Given the description of an element on the screen output the (x, y) to click on. 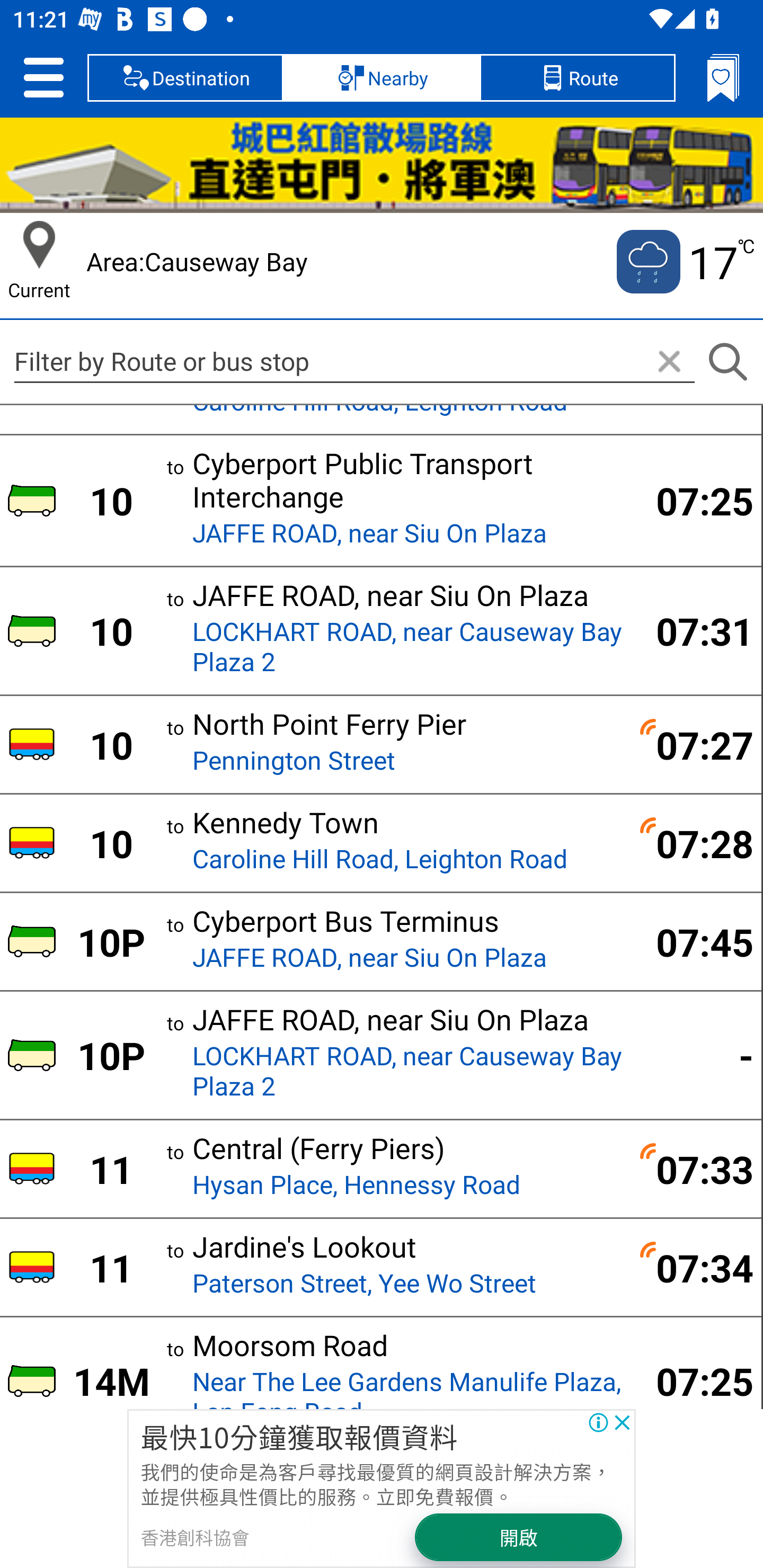
Destination (185, 77)
Nearby, selected (381, 77)
Route (577, 77)
Bookmarks (723, 77)
Setting (43, 77)
HKC (381, 165)
Current Location (38, 244)
Current temputure is  17  no 17 ℃ (684, 261)
Filter by Route or bus stop (354, 361)
Search (727, 362)
Clear (669, 361)
07:25 (693, 500)
07:31 (693, 630)
07:27 (693, 743)
07:28 (693, 842)
07:45 (693, 941)
- (693, 1054)
07:33 (693, 1168)
07:34 (693, 1267)
07:25 (693, 1380)
最快10分鐘獲取報價資料 (299, 1435)
開啟 (519, 1537)
香港創科協會 (194, 1537)
